Given the description of an element on the screen output the (x, y) to click on. 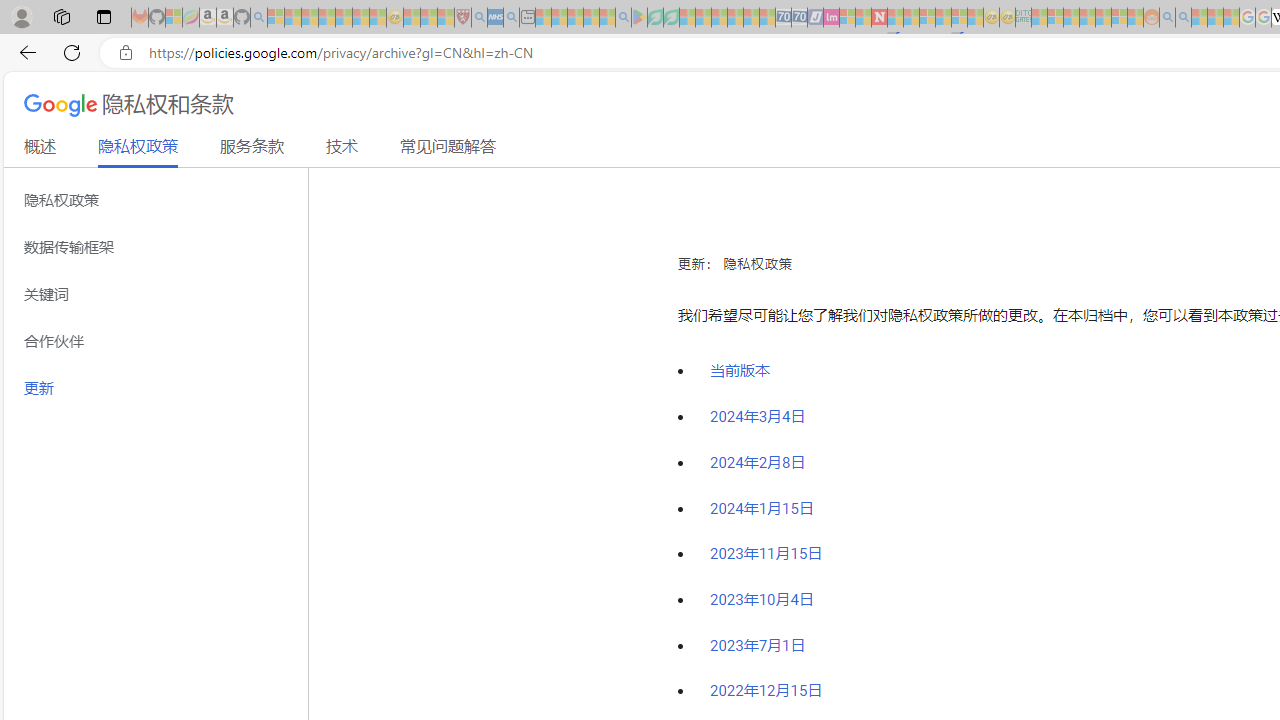
Utah sues federal government - Search - Sleeping (1183, 17)
Local - MSN - Sleeping (445, 17)
Latest Politics News & Archive | Newsweek.com - Sleeping (879, 17)
Cheap Hotels - Save70.com - Sleeping (799, 17)
